Given the description of an element on the screen output the (x, y) to click on. 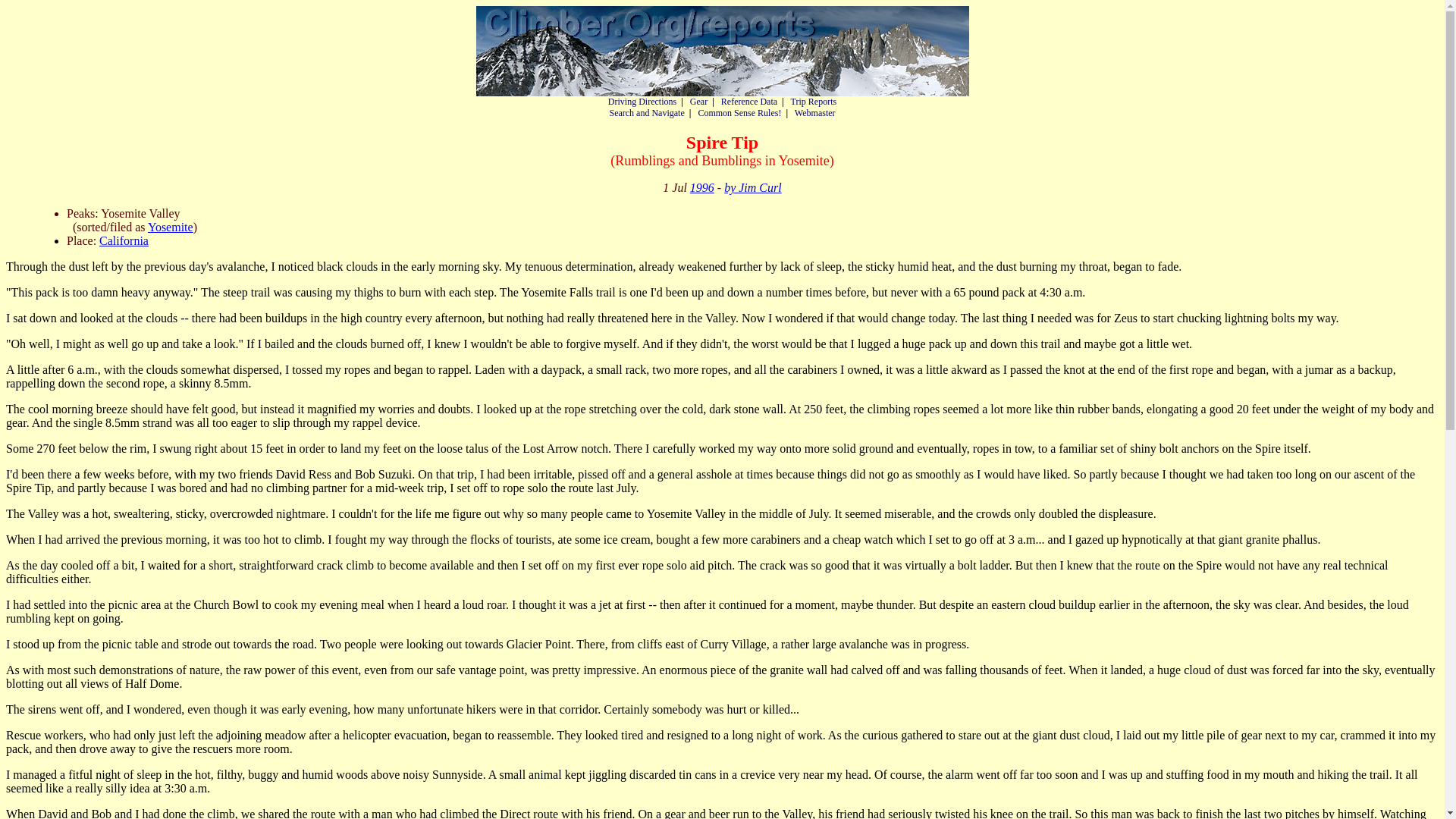
Gear (698, 101)
Webmaster (814, 112)
by Jim Curl (752, 187)
Reference Data (748, 101)
Yosemite (170, 226)
Climber.Org Home Page (722, 50)
Search and Navigate (646, 112)
Driving Directions (642, 101)
1996 (702, 187)
Common Sense Rules! (738, 112)
